Given the description of an element on the screen output the (x, y) to click on. 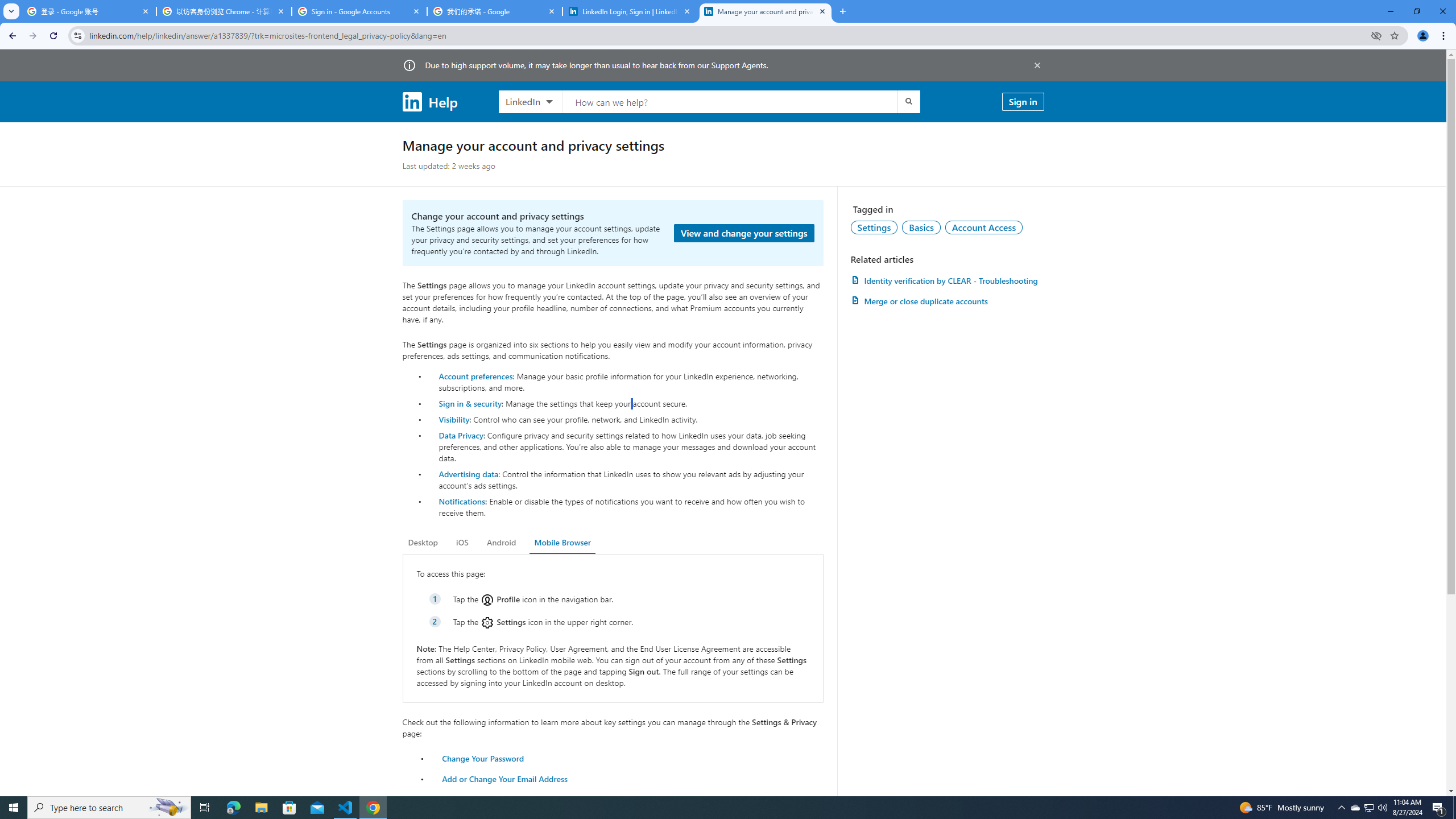
Notifications (461, 500)
AutomationID: topic-link-a151002 (983, 227)
Basics (921, 227)
Sign in & security (470, 402)
Mobile Browser (562, 542)
Desktop (422, 542)
